Given the description of an element on the screen output the (x, y) to click on. 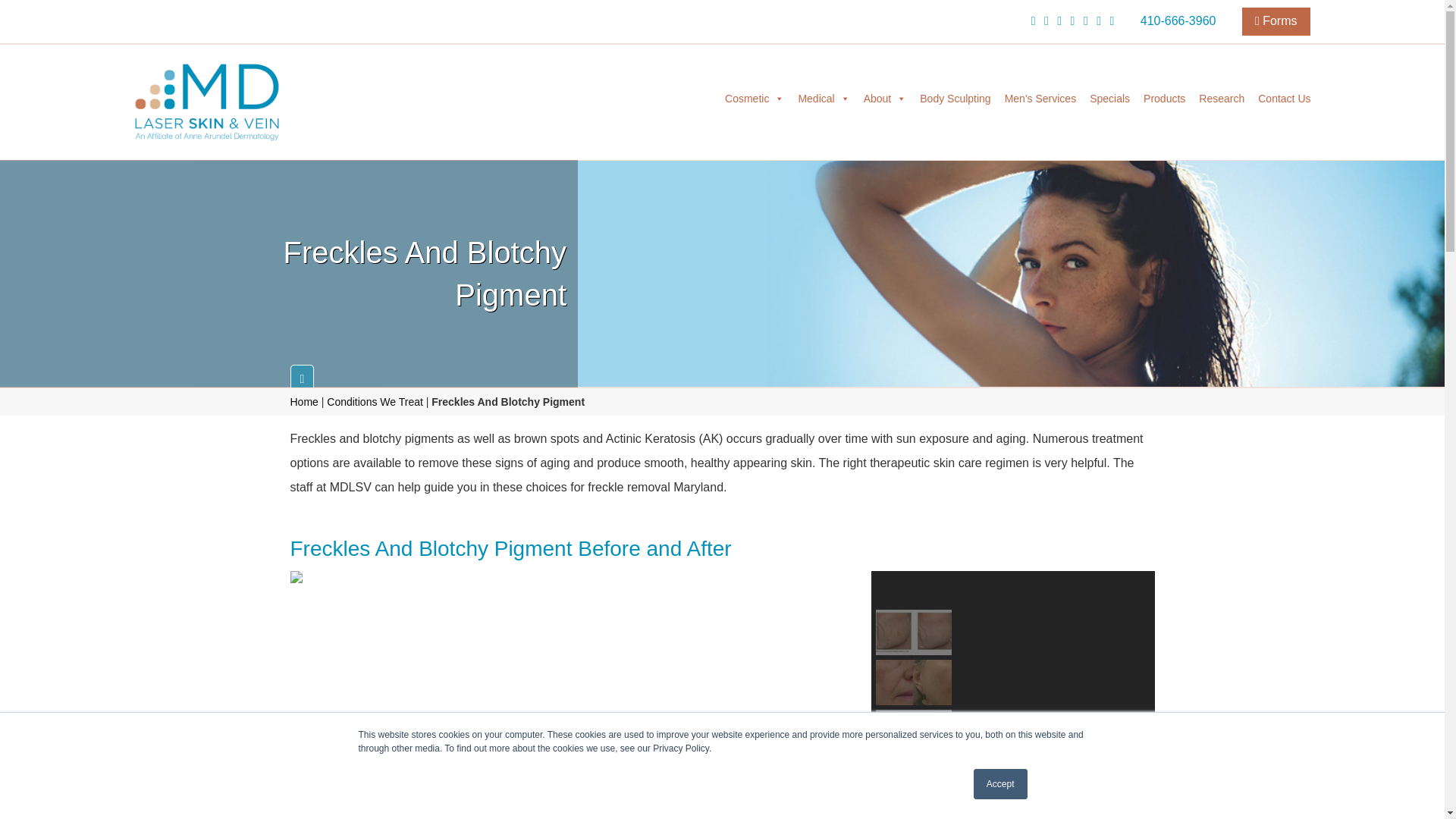
410-666-3960 (1177, 20)
Accept (1000, 784)
Medical (823, 98)
 Forms (1275, 21)
About (885, 98)
Cosmetic (753, 98)
